Given the description of an element on the screen output the (x, y) to click on. 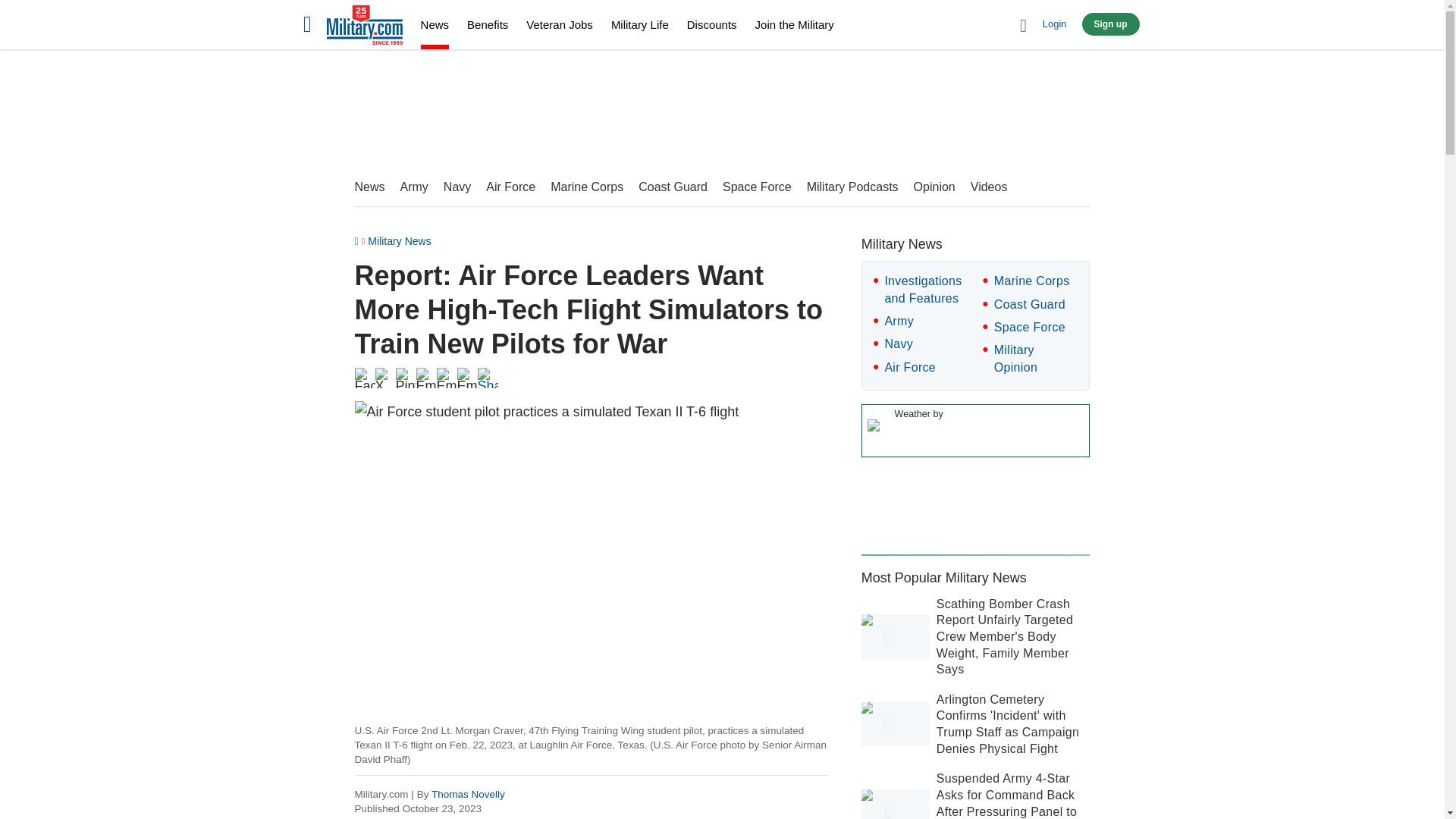
Veteran Jobs (558, 24)
Military Life (639, 24)
Benefits (487, 24)
Home (364, 27)
